Given the description of an element on the screen output the (x, y) to click on. 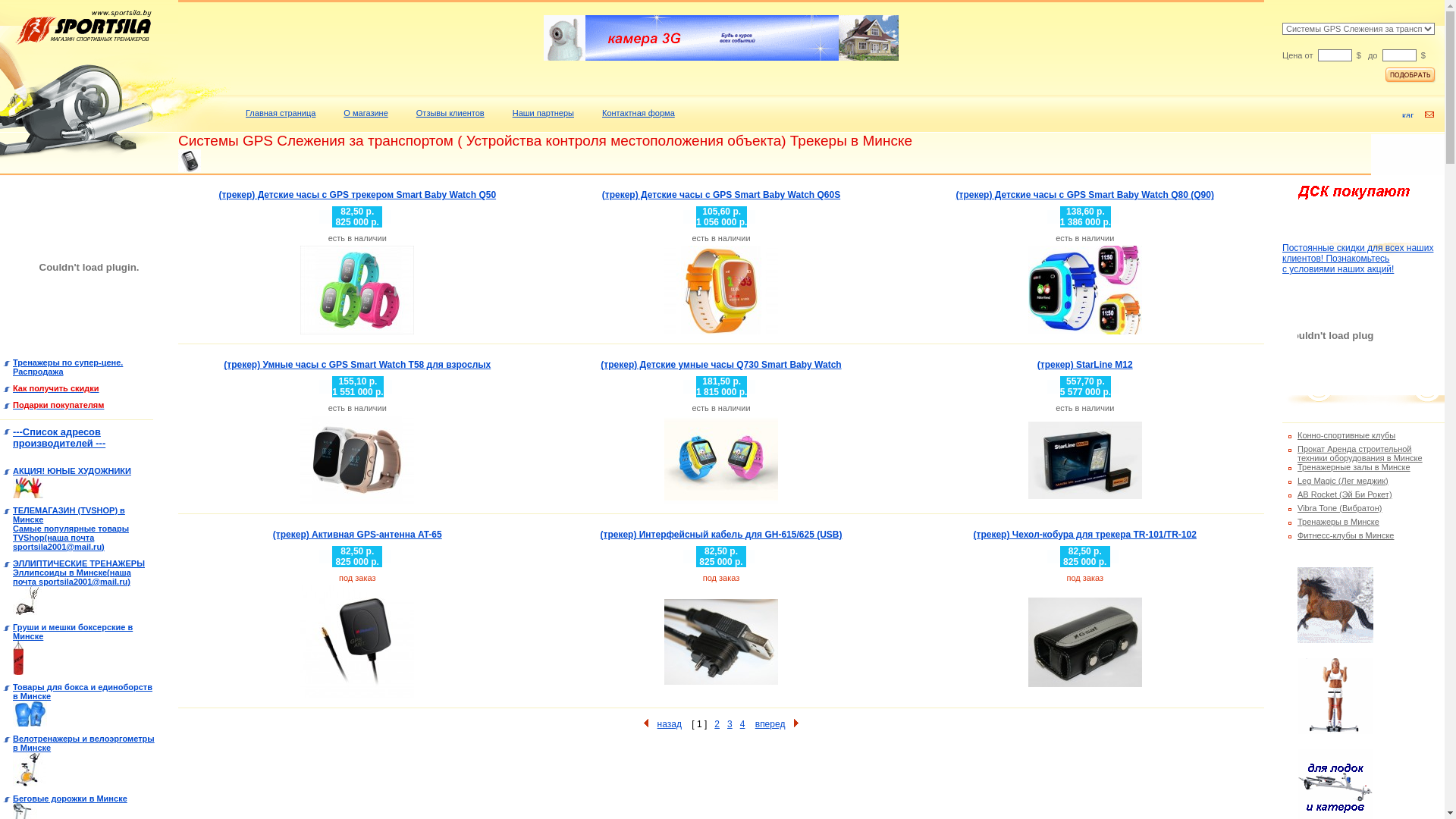
2 Element type: text (716, 723)
3 Element type: text (729, 723)
4 Element type: text (742, 723)
